Given the description of an element on the screen output the (x, y) to click on. 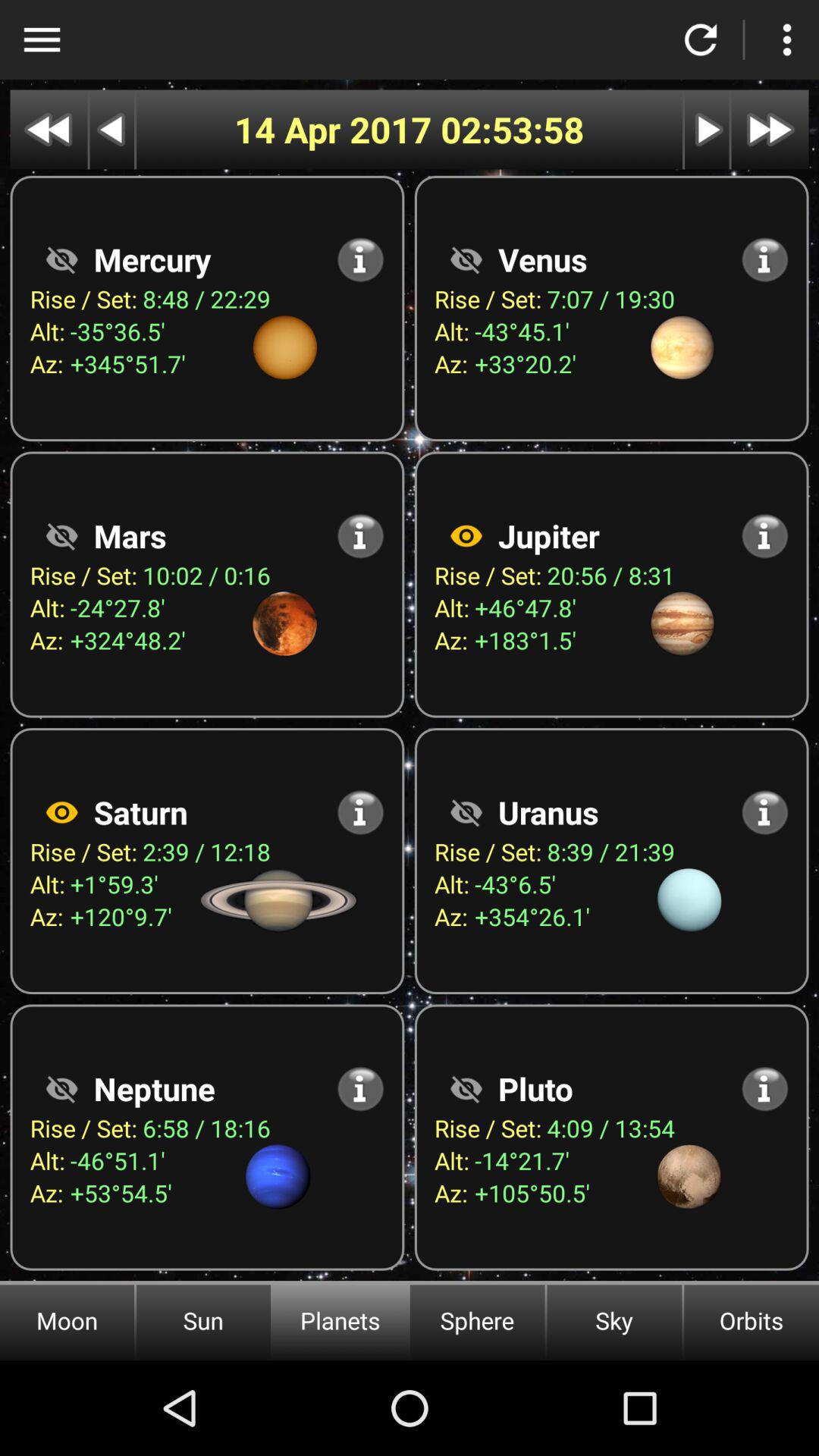
toggle visibility (61, 259)
